Given the description of an element on the screen output the (x, y) to click on. 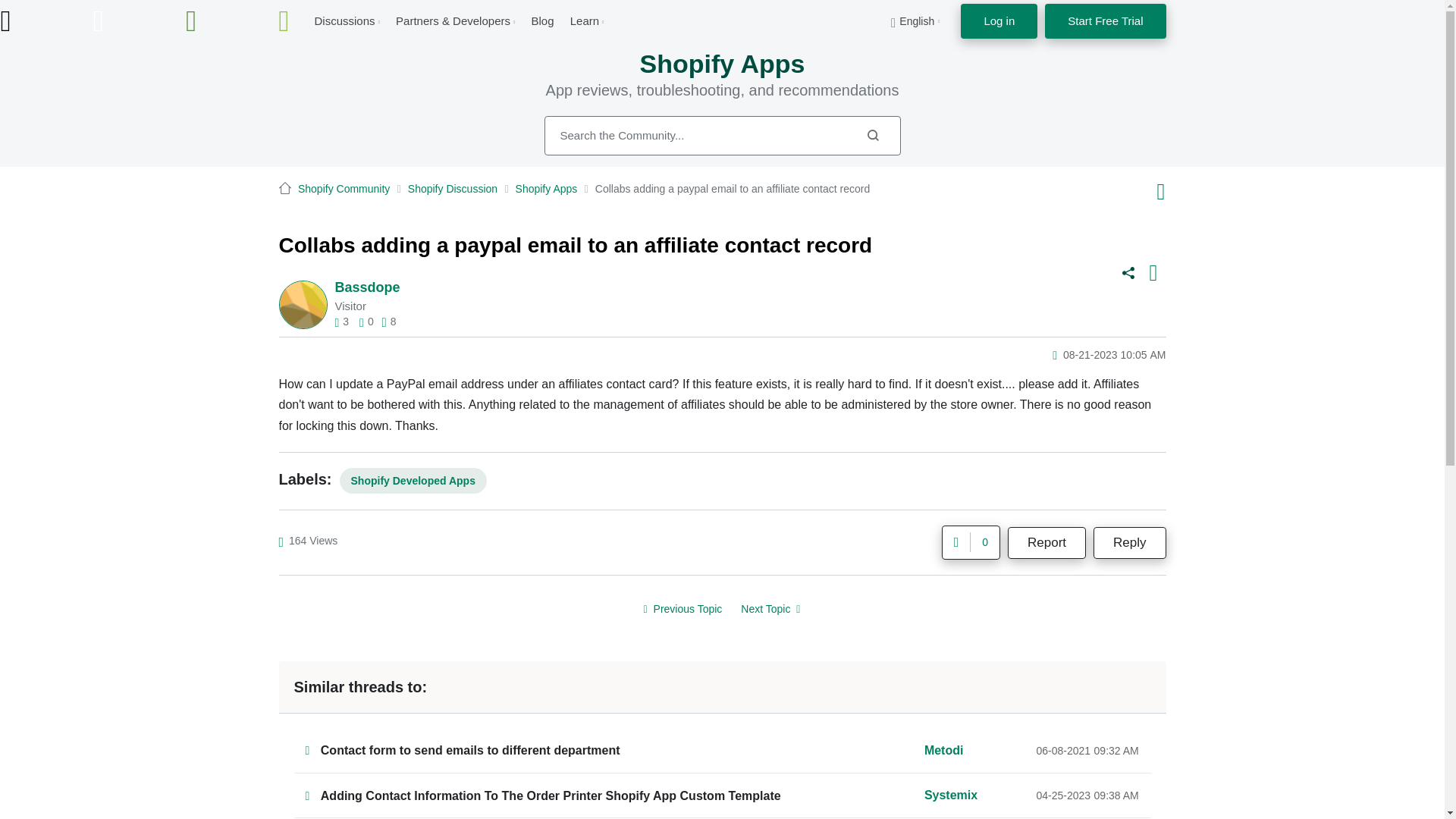
Search (872, 135)
Search (872, 135)
Search (722, 135)
Discussions (344, 20)
